Given the description of an element on the screen output the (x, y) to click on. 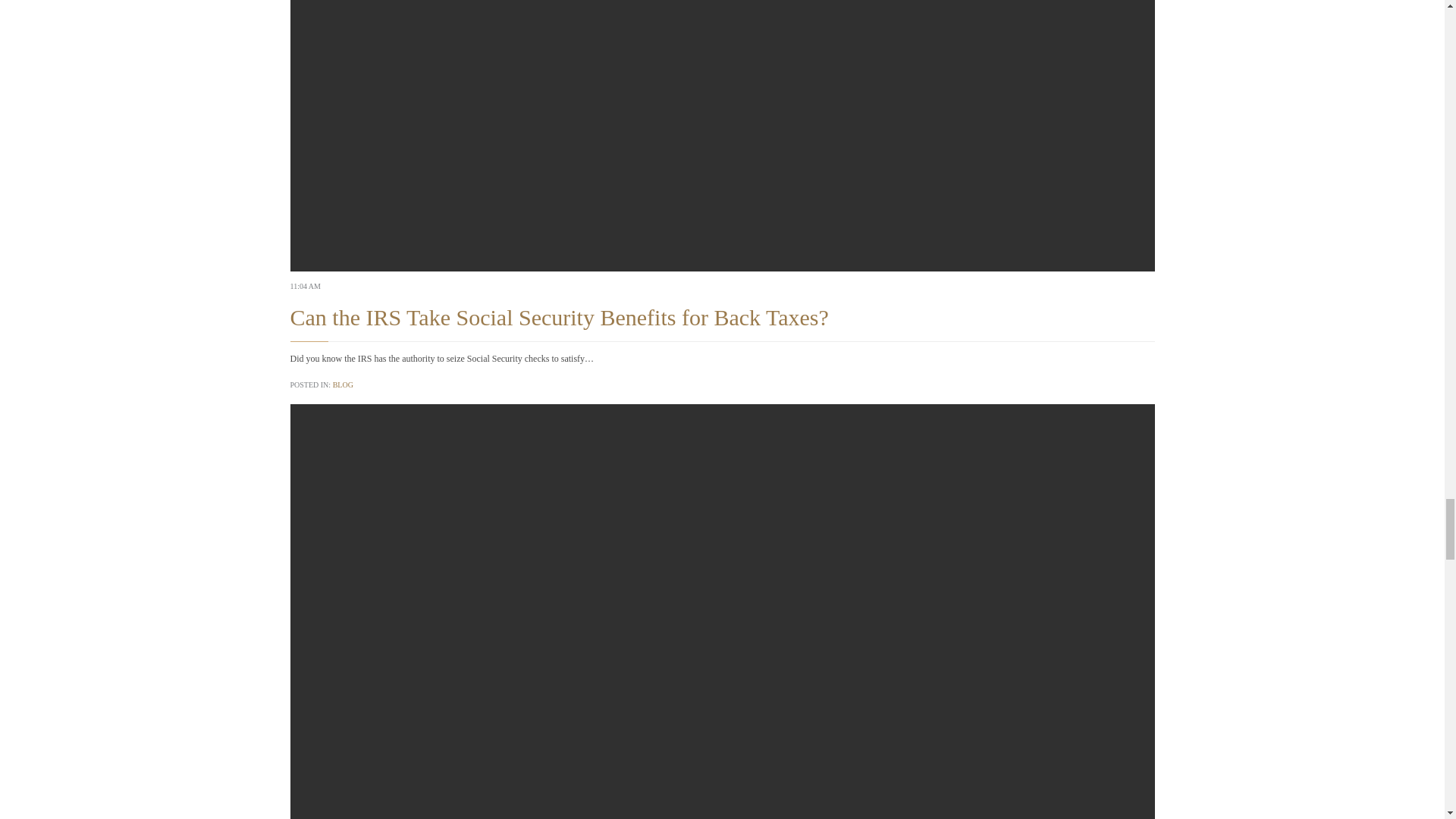
Can the IRS Take Social Security Benefits for Back Taxes? (558, 317)
